Given the description of an element on the screen output the (x, y) to click on. 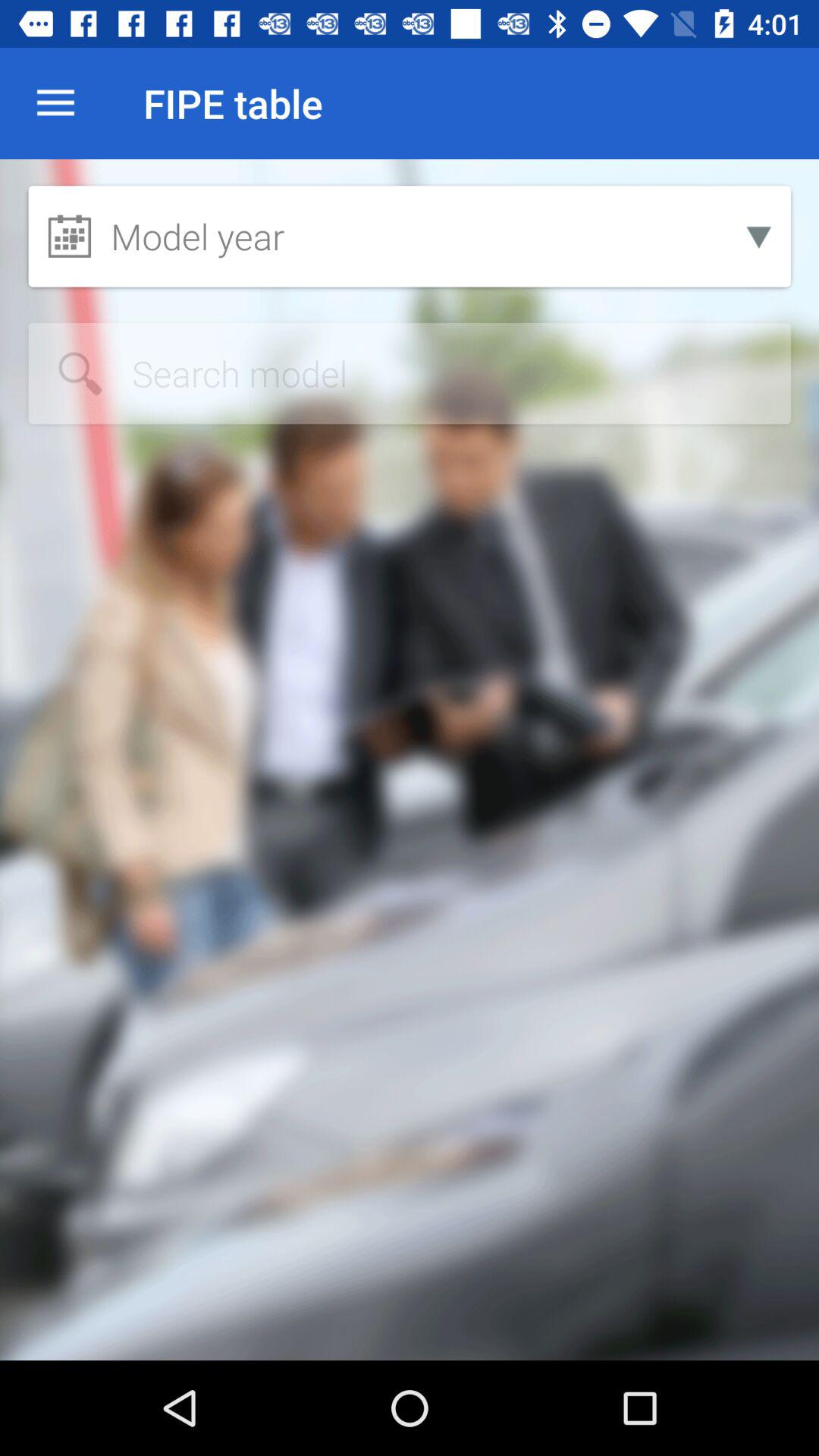
press icon next to the fipe table (55, 103)
